Given the description of an element on the screen output the (x, y) to click on. 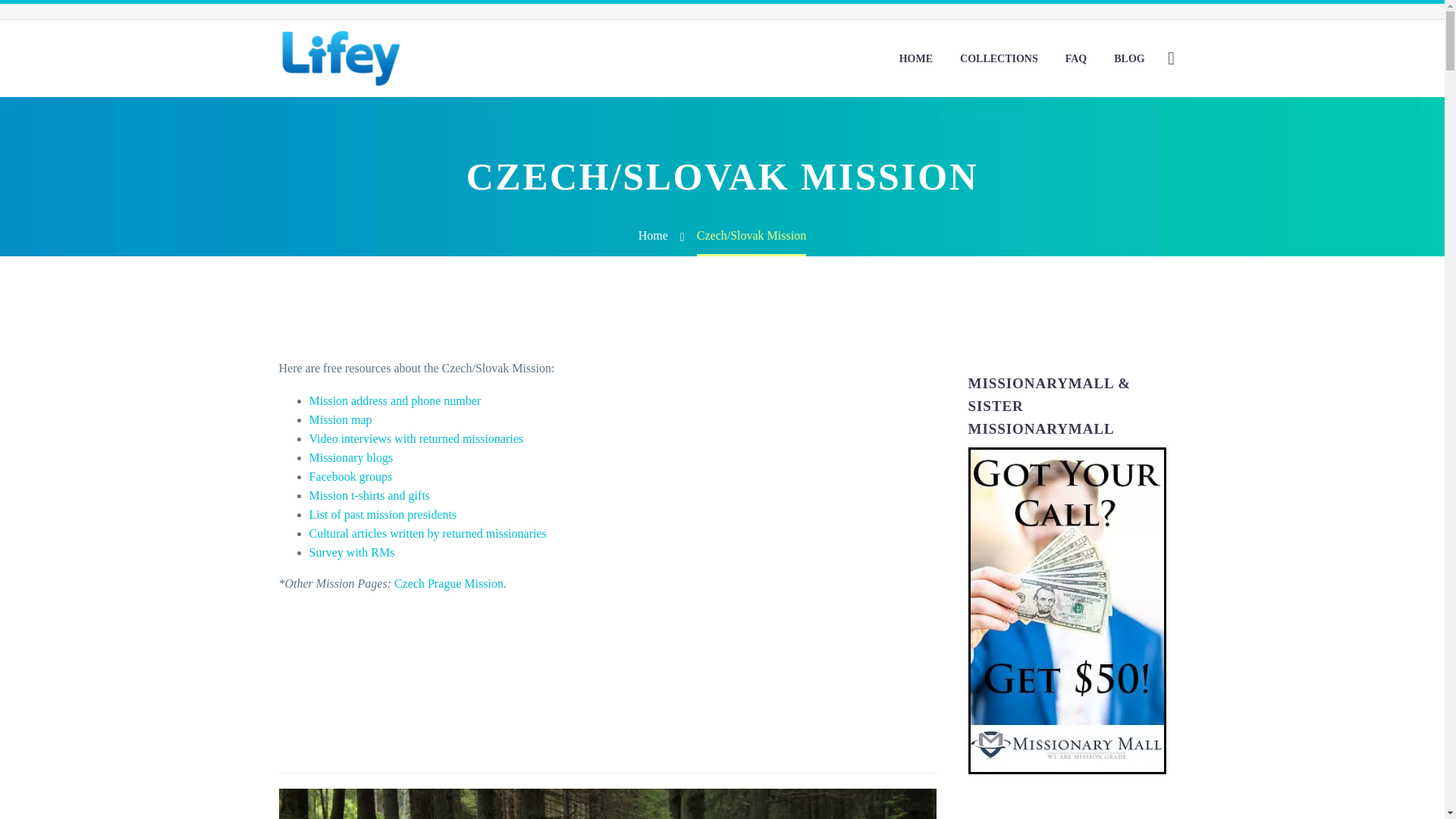
FAQ (1076, 57)
List of past mission presidents (382, 513)
Cultural articles written by returned missionaries (427, 533)
COLLECTIONS (999, 57)
BLOG (1129, 57)
Home (653, 235)
Survey with RMs (351, 552)
Mission address and phone number (394, 400)
Video interviews with returned missionaries (416, 438)
Mission map (340, 419)
